Given the description of an element on the screen output the (x, y) to click on. 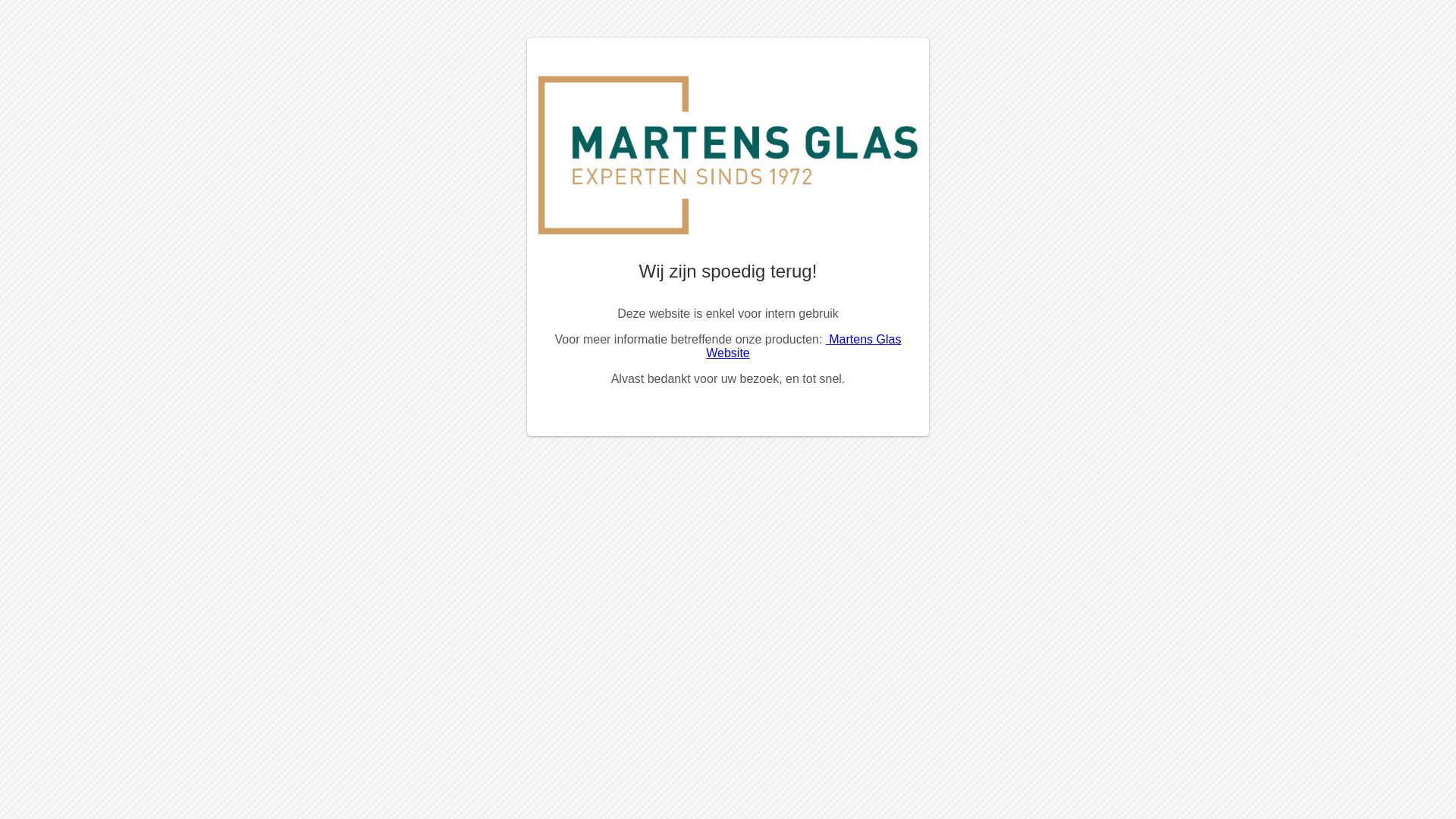
 Martens Glas Website Element type: text (803, 345)
